Given the description of an element on the screen output the (x, y) to click on. 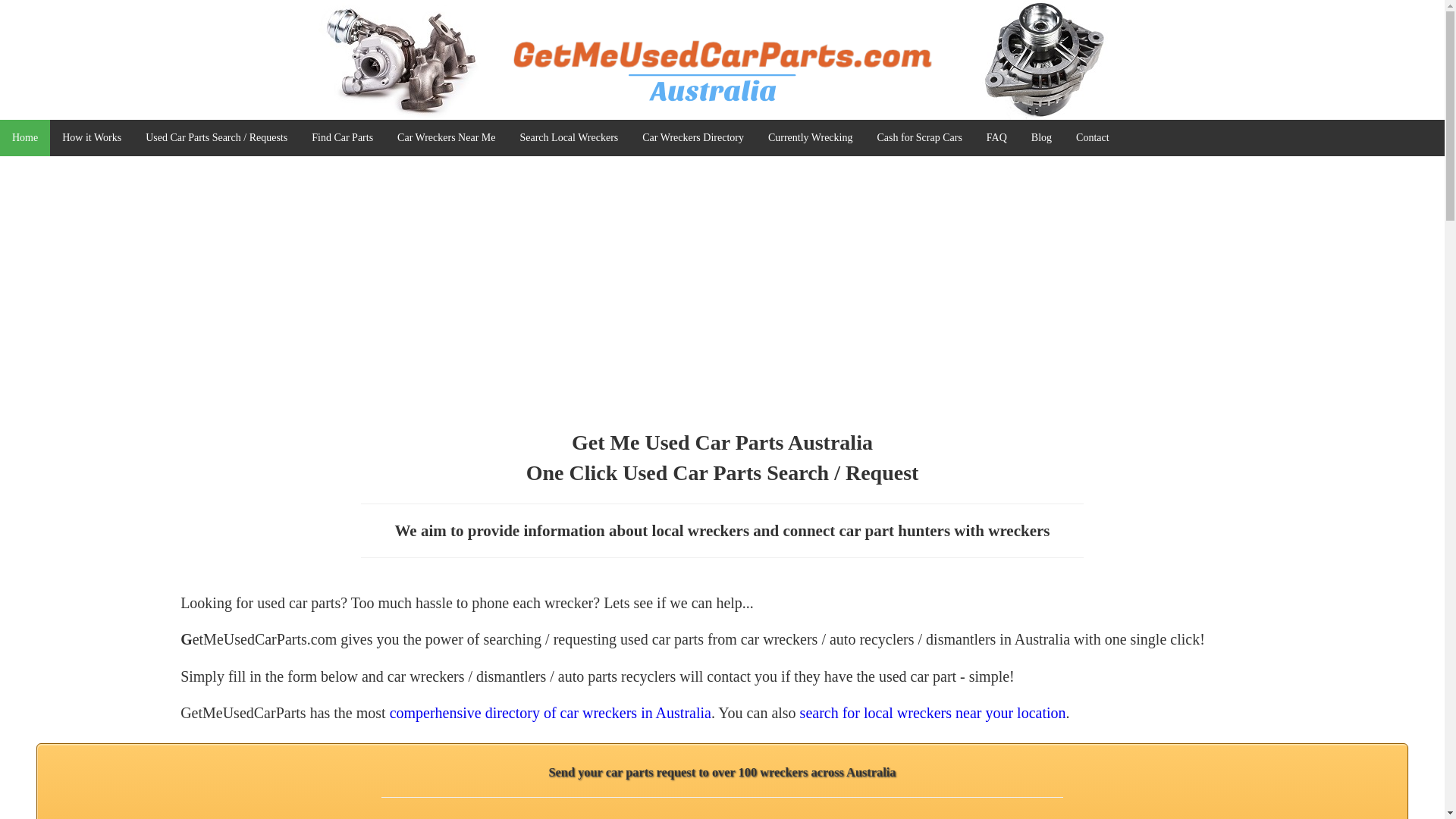
Search Local Wreckers Element type: text (568, 137)
FAQ Element type: text (996, 137)
Car Wreckers Near Me Element type: text (446, 137)
Advertisement Element type: hover (721, 306)
Home Element type: text (25, 137)
How it Works Element type: text (91, 137)
Car Wreckers Directory Element type: text (693, 137)
Currently Wrecking Element type: text (810, 137)
comperhensive directory of car wreckers in Australia Element type: text (550, 712)
Cash for Scrap Cars Element type: text (918, 137)
Find Car Parts Element type: text (342, 137)
Blog Element type: text (1041, 137)
search for local wreckers near your location Element type: text (933, 712)
Contact Element type: text (1092, 137)
Used Car Parts Search / Requests Element type: text (216, 137)
